Given the description of an element on the screen output the (x, y) to click on. 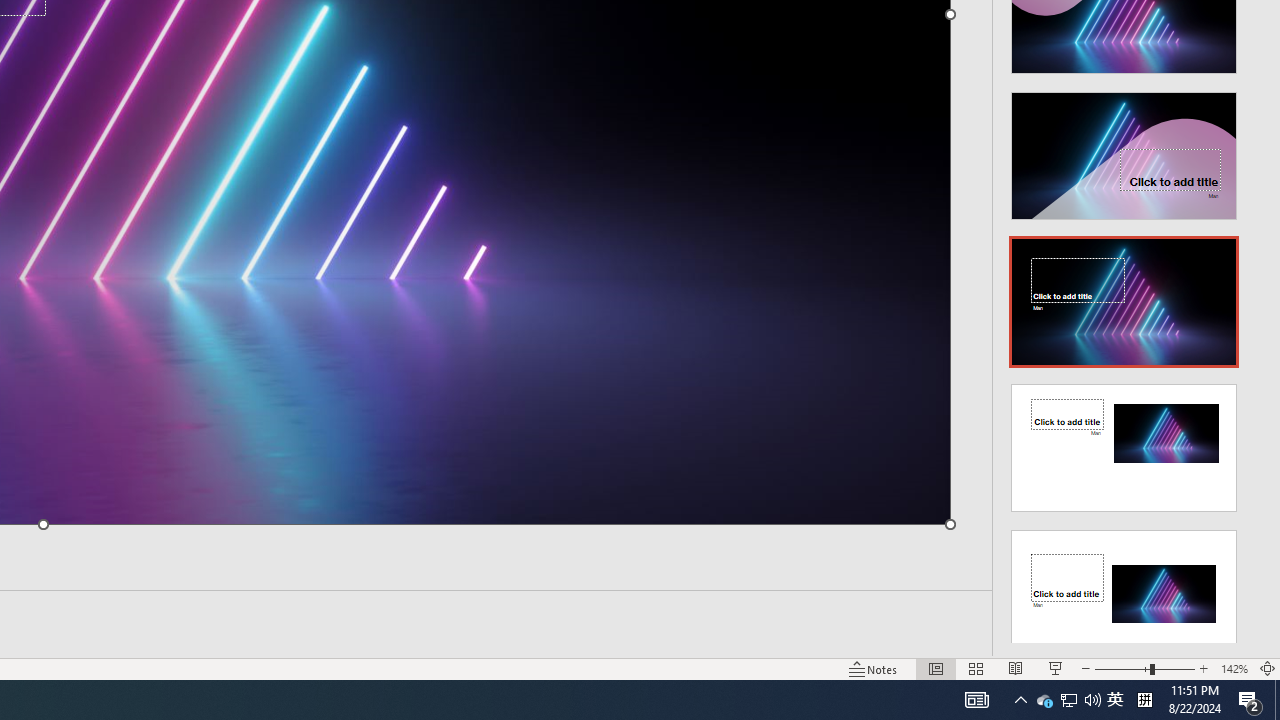
Zoom 142% (1234, 668)
